Given the description of an element on the screen output the (x, y) to click on. 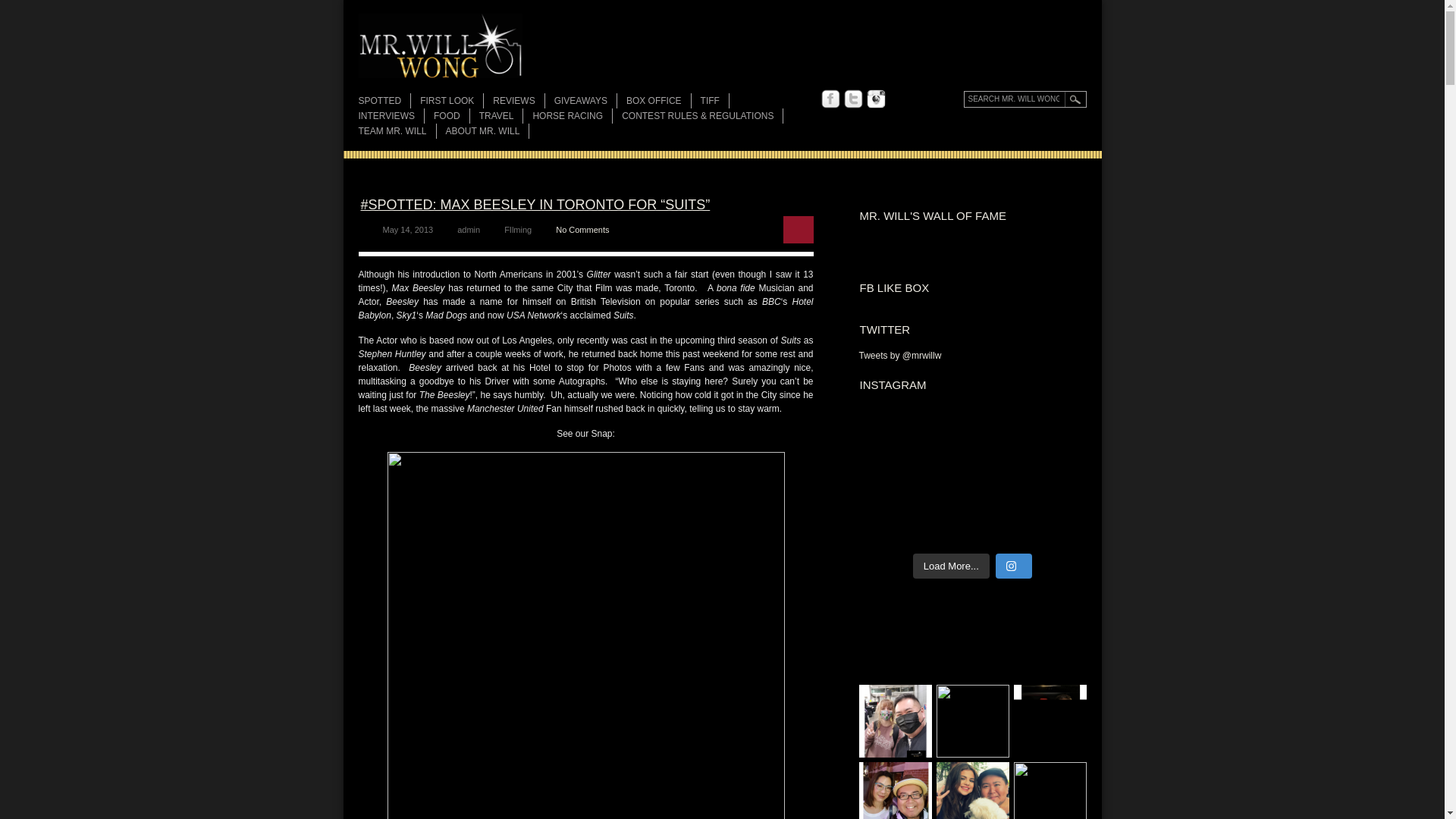
BOX OFFICE (658, 100)
TEAM MR. WILL (396, 130)
Search Mr. Will Wong (1024, 98)
HORSE RACING (571, 115)
ABOUT MR. WILL (487, 130)
GIVEAWAYS (584, 100)
REVIEWS (518, 100)
SPOTTED (384, 100)
TRAVEL (500, 115)
TIFF (714, 100)
